Given the description of an element on the screen output the (x, y) to click on. 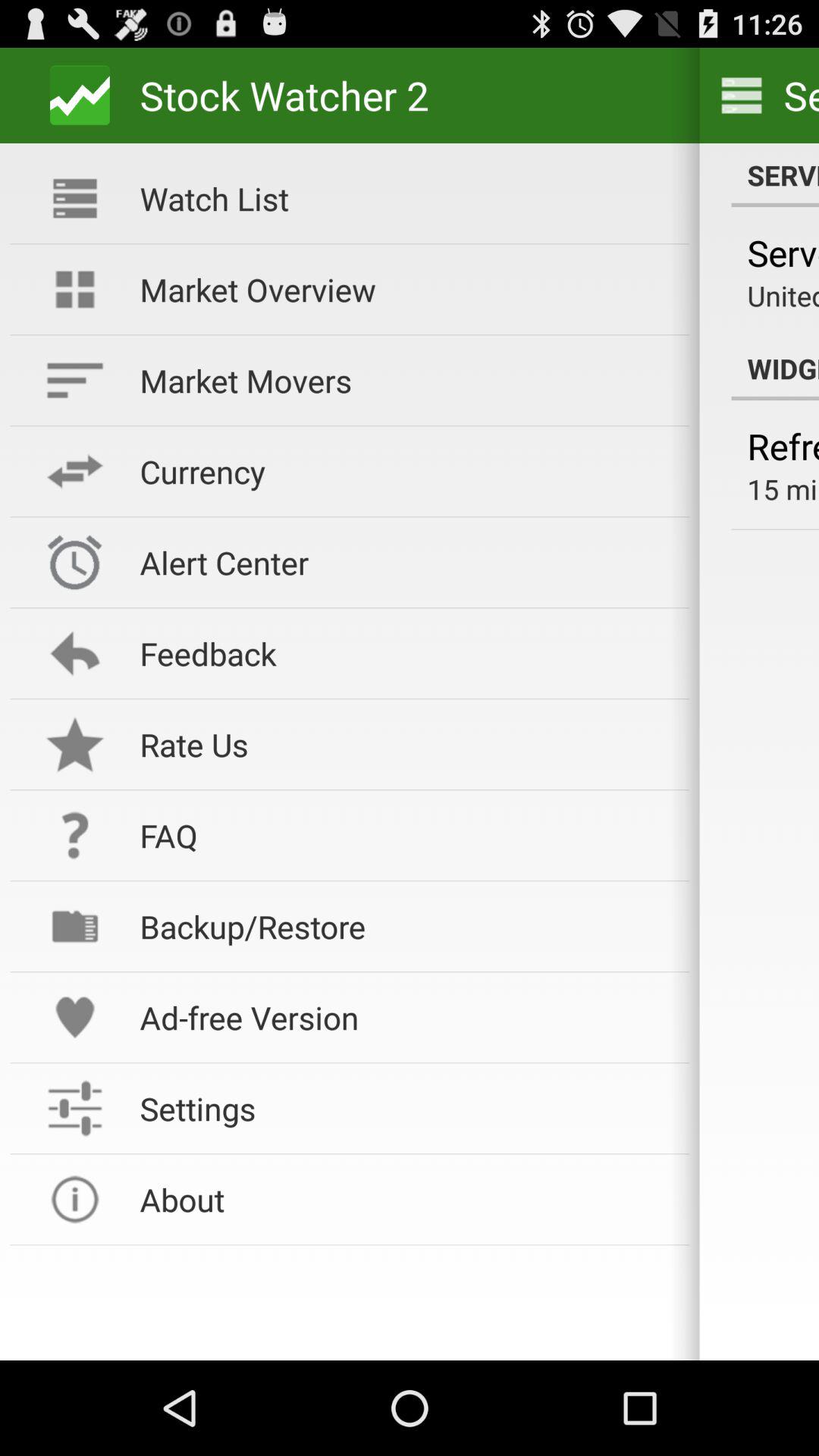
launch icon above 15 minutes (783, 446)
